Given the description of an element on the screen output the (x, y) to click on. 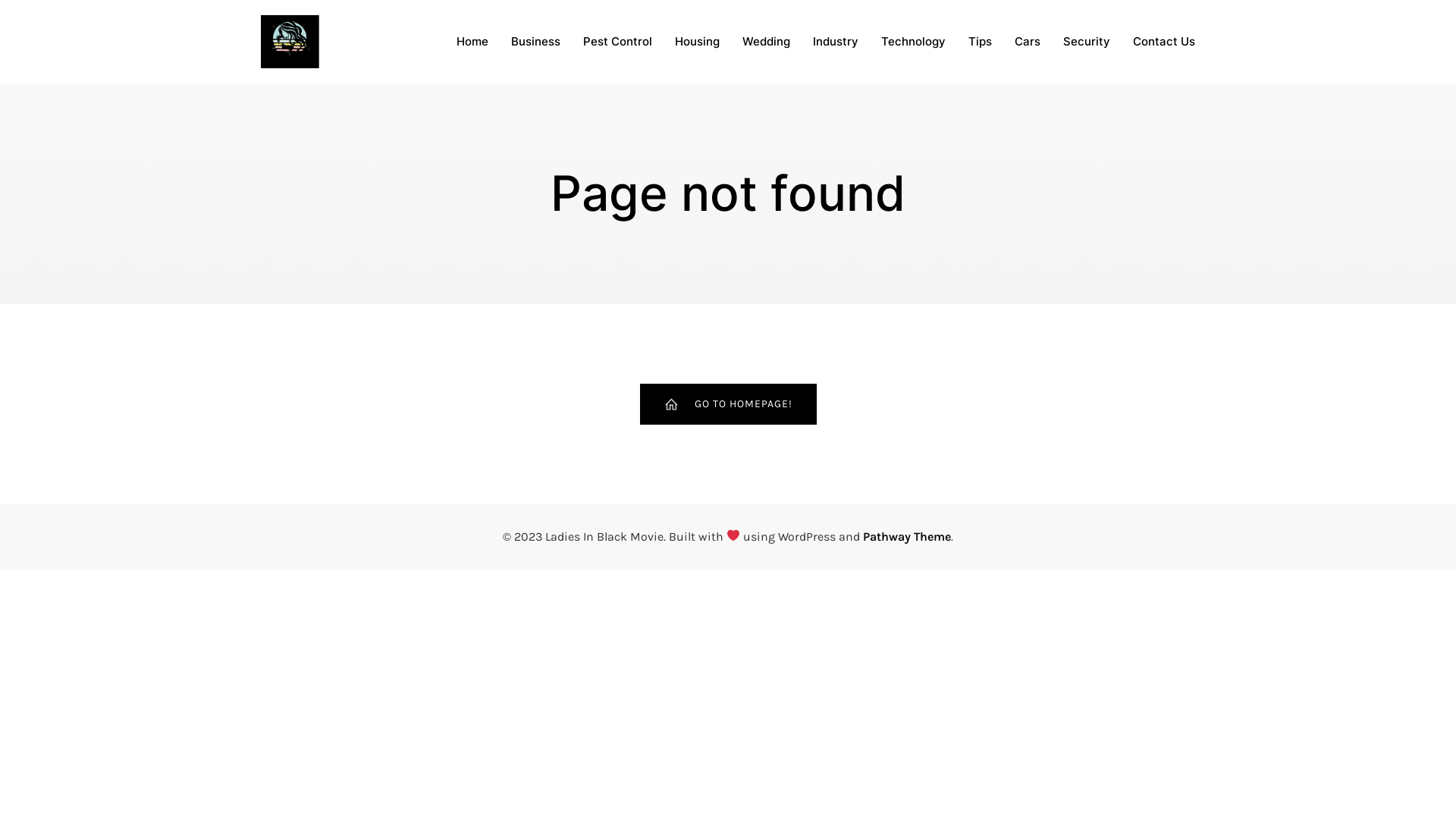
Cars Element type: text (1027, 41)
Tips Element type: text (979, 41)
Security Element type: text (1086, 41)
Home Element type: text (472, 41)
Industry Element type: text (835, 41)
Technology Element type: text (913, 41)
Contact Us Element type: text (1163, 41)
Wedding Element type: text (766, 41)
Business Element type: text (535, 41)
Housing Element type: text (696, 41)
GO TO HOMEPAGE! Element type: text (728, 403)
Pest Control Element type: text (617, 41)
Pathway Theme Element type: text (906, 536)
